Given the description of an element on the screen output the (x, y) to click on. 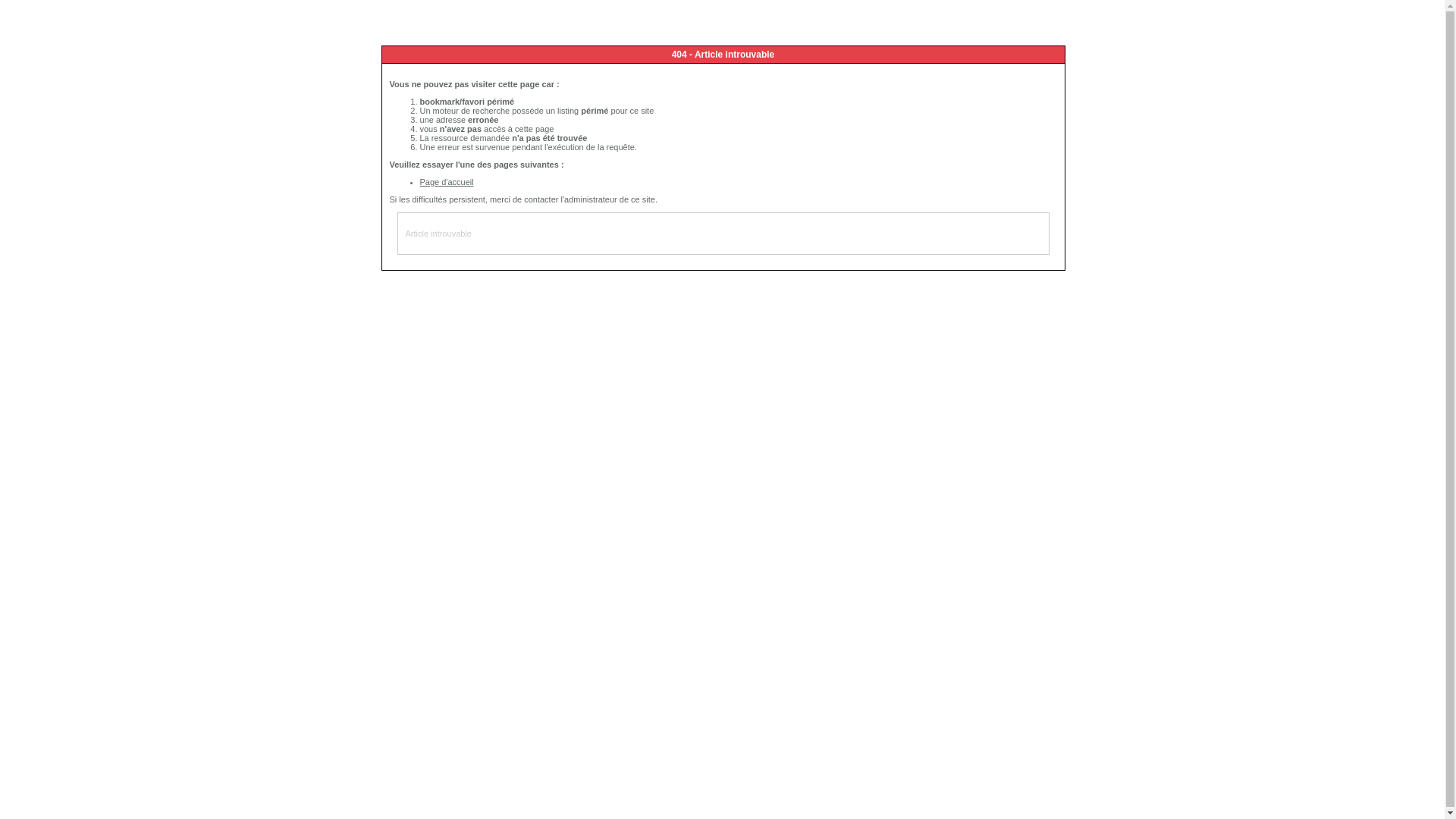
Page d'accueil Element type: text (446, 181)
